Given the description of an element on the screen output the (x, y) to click on. 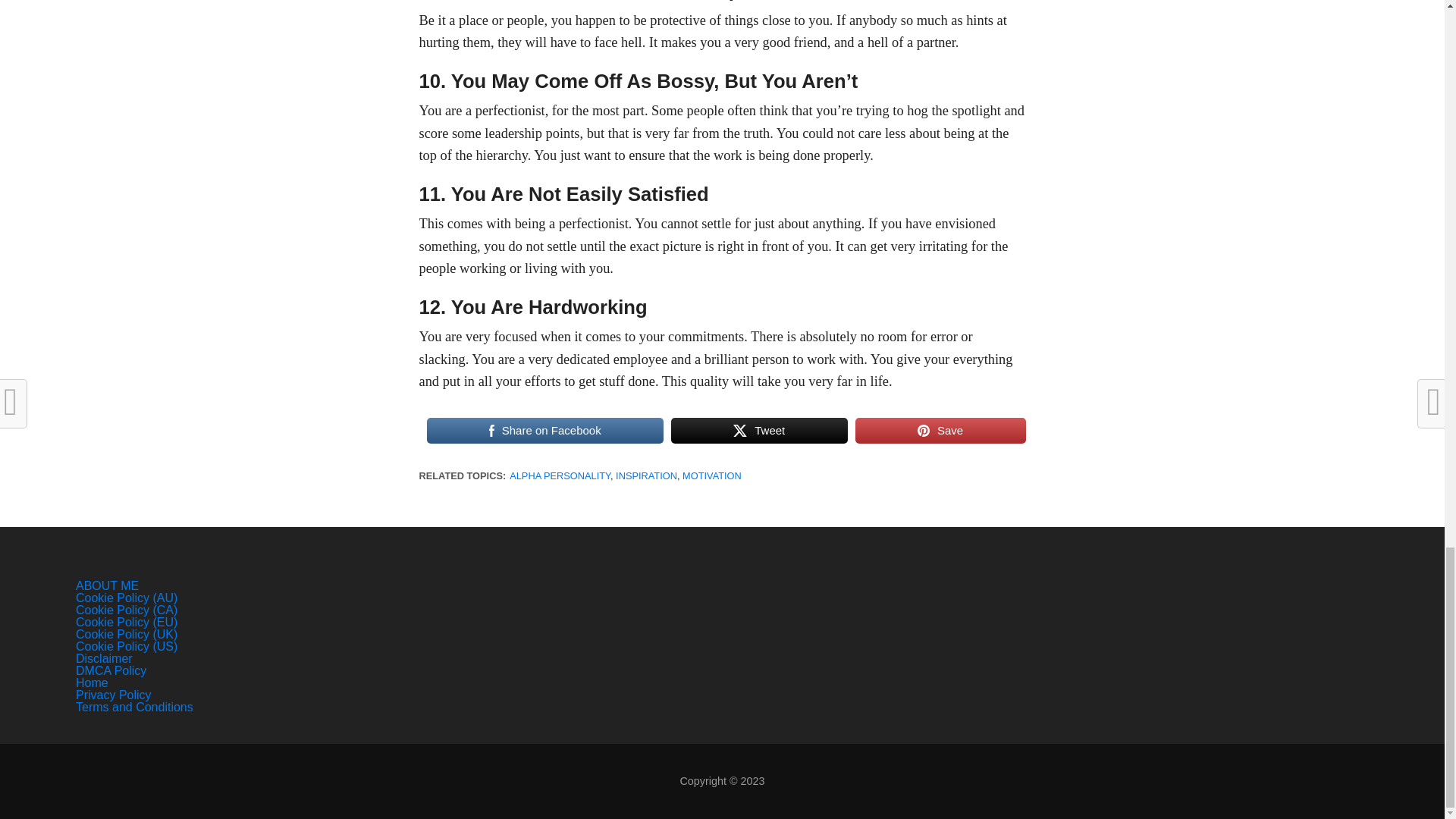
ABOUT ME (106, 585)
Tweet (759, 430)
INSPIRATION (646, 475)
Save (941, 430)
Share on Facebook (544, 430)
ALPHA PERSONALITY (559, 475)
MOTIVATION (711, 475)
